Given the description of an element on the screen output the (x, y) to click on. 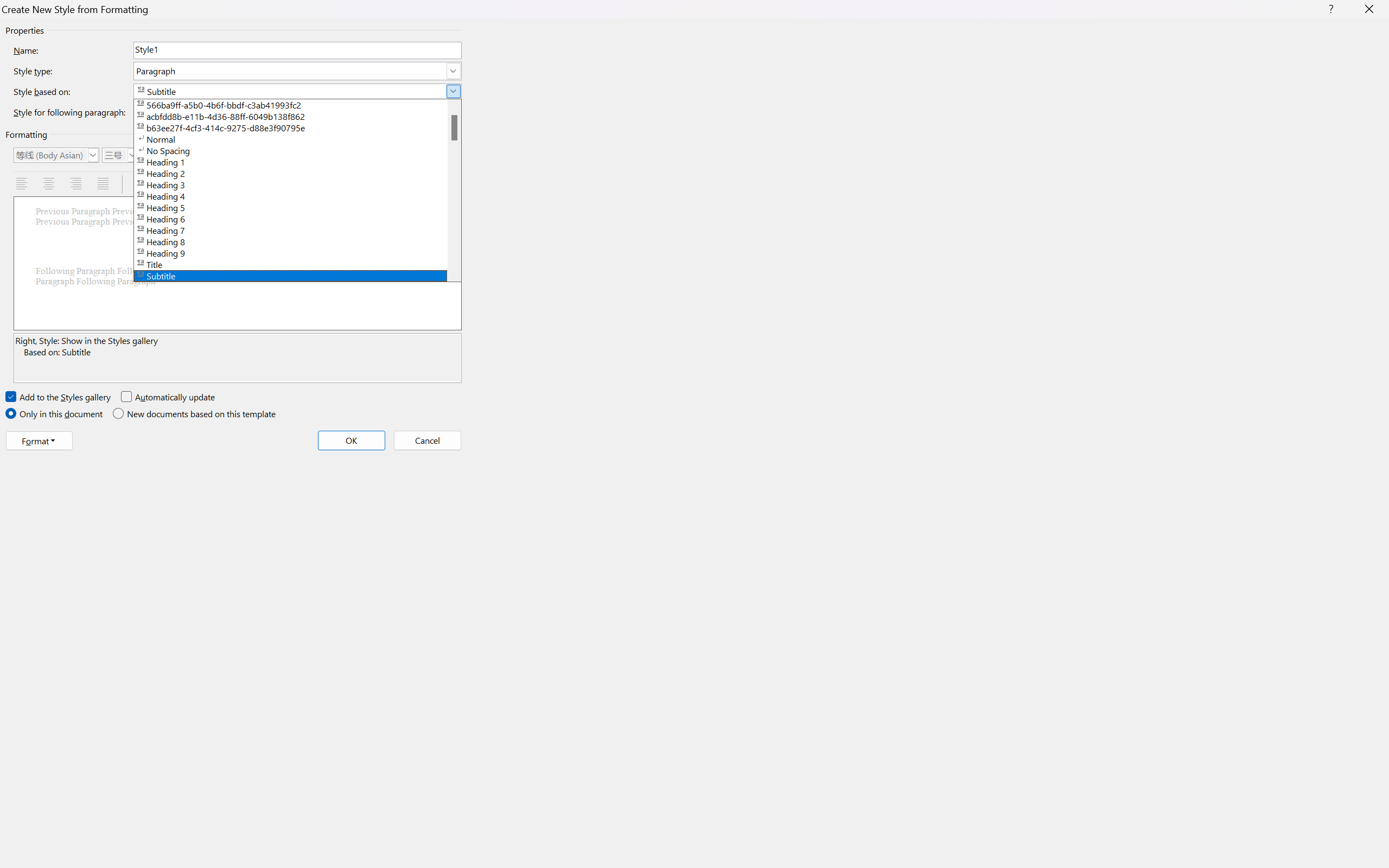
Decrease Indent (306, 183)
Decrease Paragraph Spacing (258, 183)
Font Color (Automatic) (261, 155)
Style properties: (237, 357)
Style for following paragraph: (297, 111)
1.5 Spacing (167, 183)
Format (39, 440)
Center (49, 183)
Bold (154, 154)
Heading 6 (297, 217)
acbfdd8b-e11b-4d36-88ff-6049b138f862 (297, 115)
Heading 3 (297, 184)
Heading 2 (297, 172)
Align Left (22, 183)
